Given the description of an element on the screen output the (x, y) to click on. 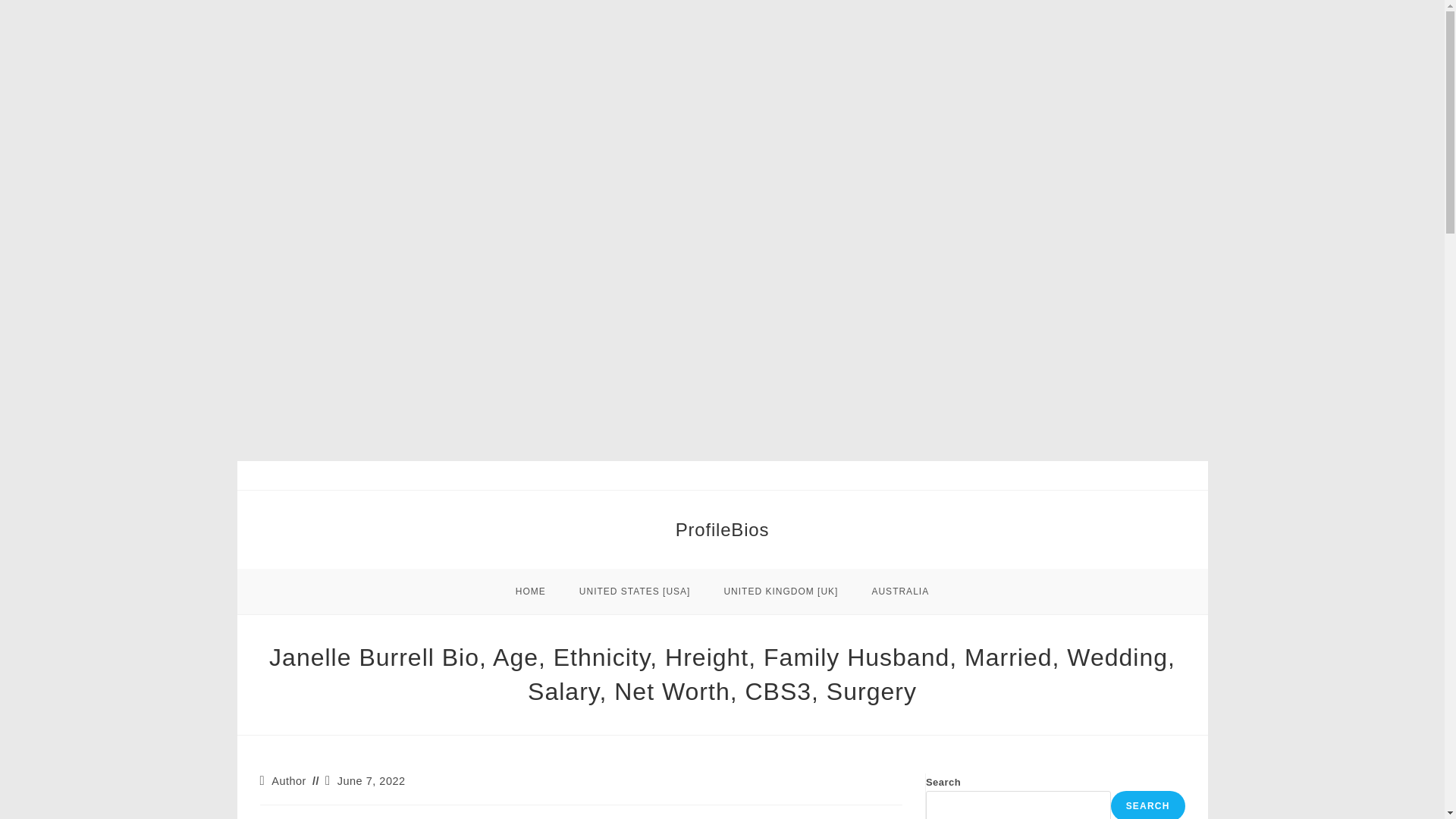
Author (287, 780)
HOME (530, 591)
SEARCH (1147, 805)
ProfileBios (722, 529)
Posts by Author (287, 780)
AUSTRALIA (899, 591)
